Given the description of an element on the screen output the (x, y) to click on. 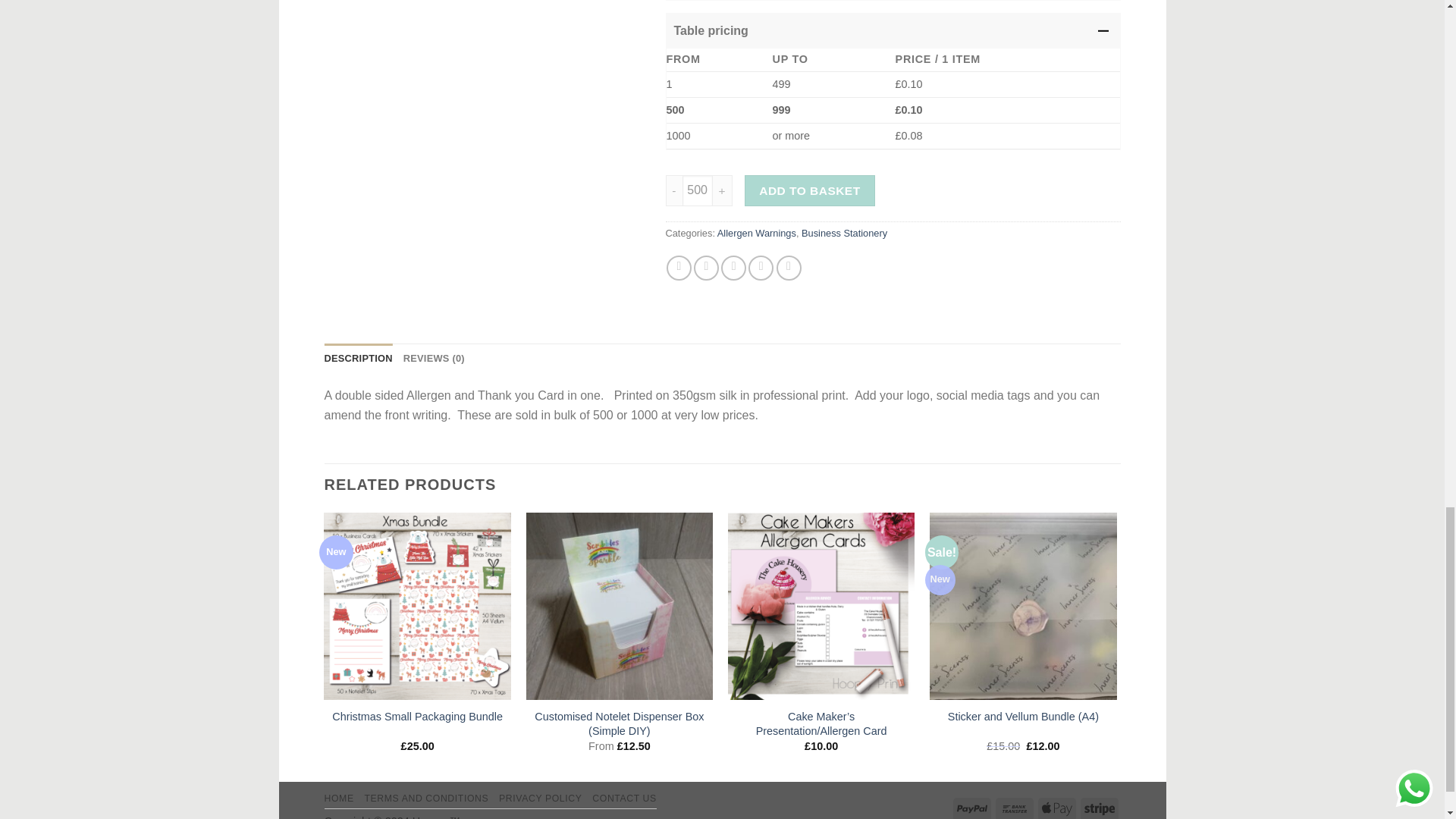
500 (697, 190)
